Given the description of an element on the screen output the (x, y) to click on. 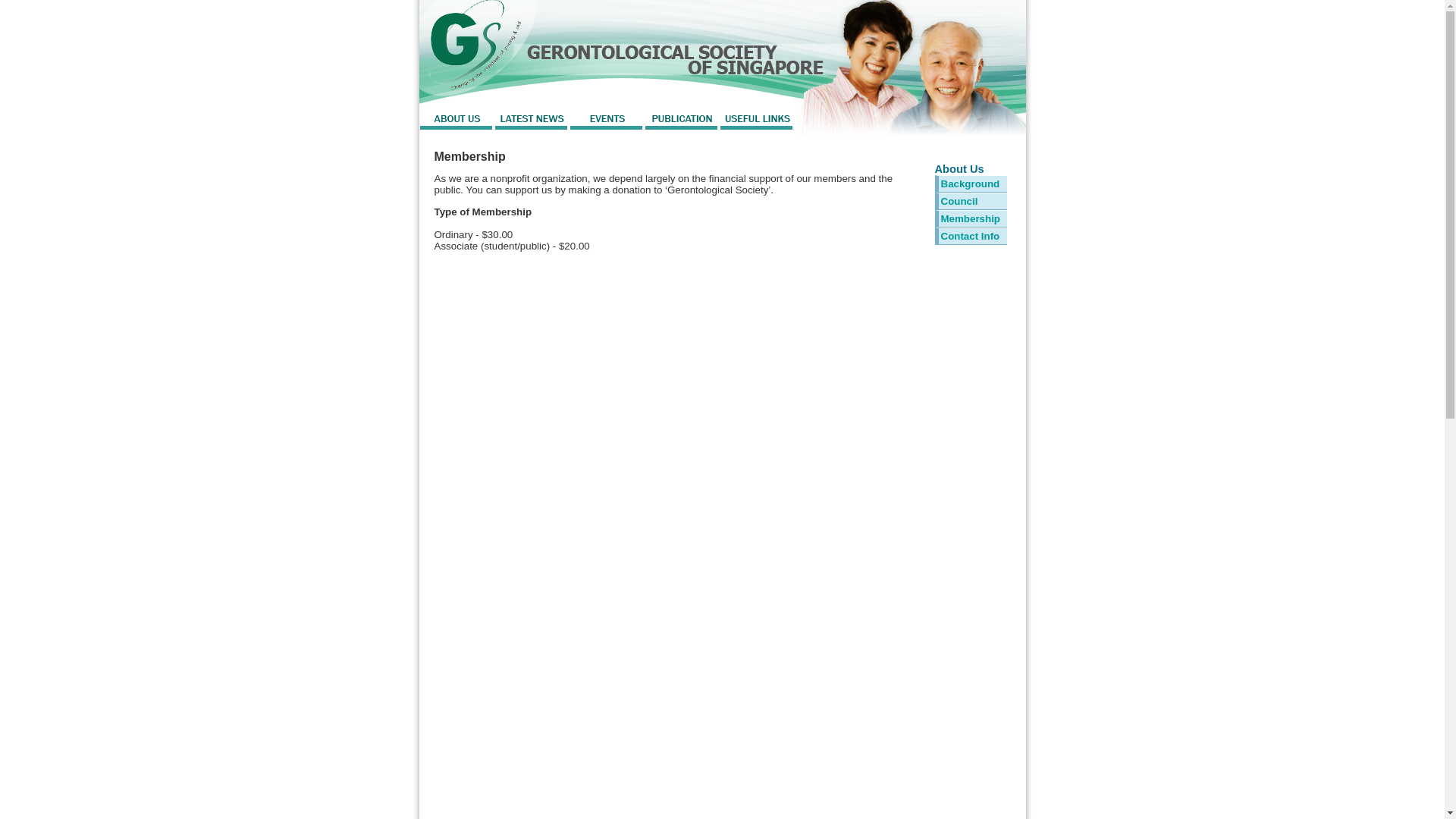
Contact Info (969, 235)
Membership (970, 218)
Background (969, 183)
Council (958, 201)
